Given the description of an element on the screen output the (x, y) to click on. 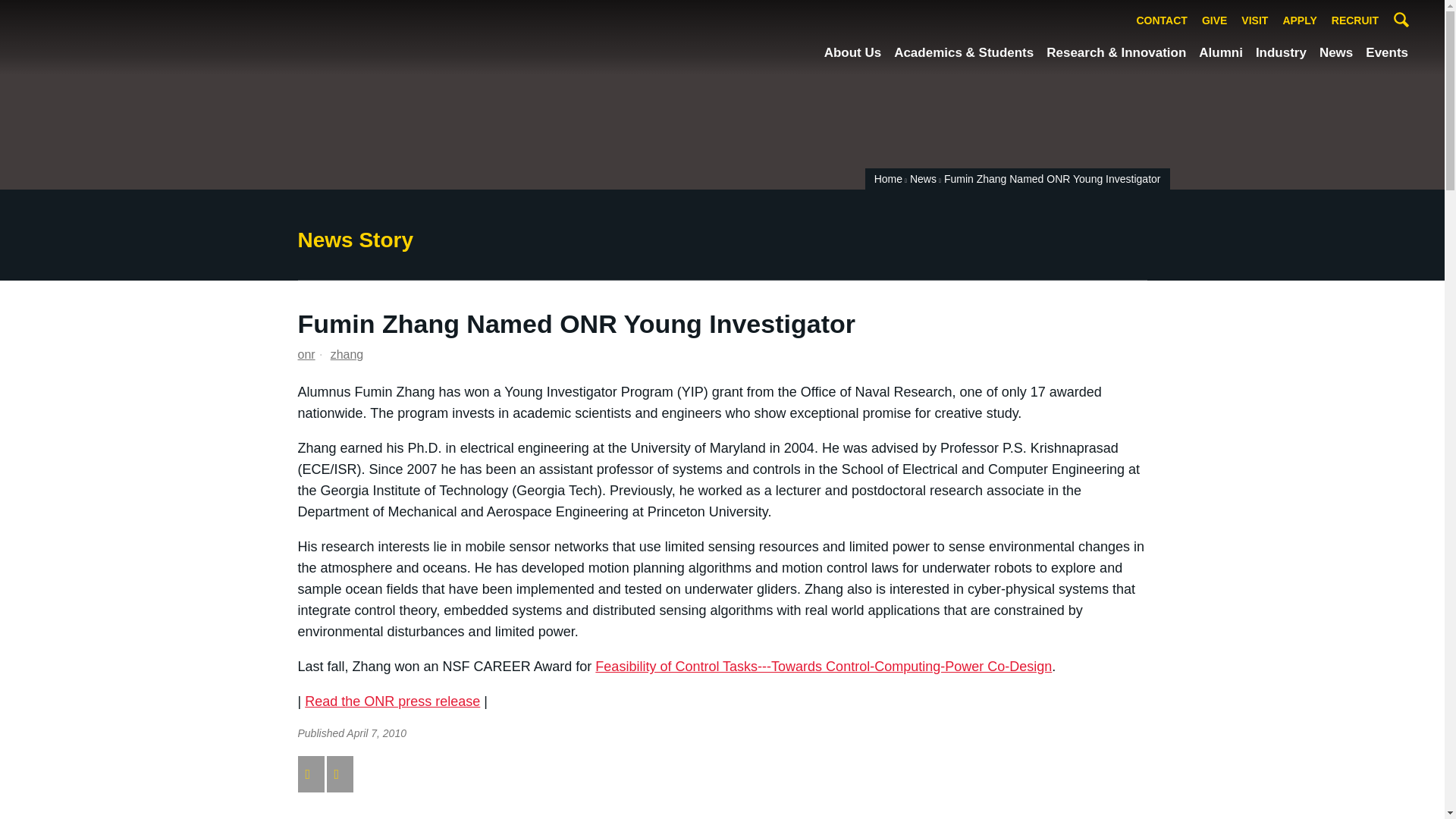
CONTACT (1161, 21)
RECRUIT (1355, 21)
A. James Clark School of Engineering (128, 36)
GIVE (1213, 21)
APPLY (1299, 21)
VISIT (1254, 21)
About Us (852, 53)
